Given the description of an element on the screen output the (x, y) to click on. 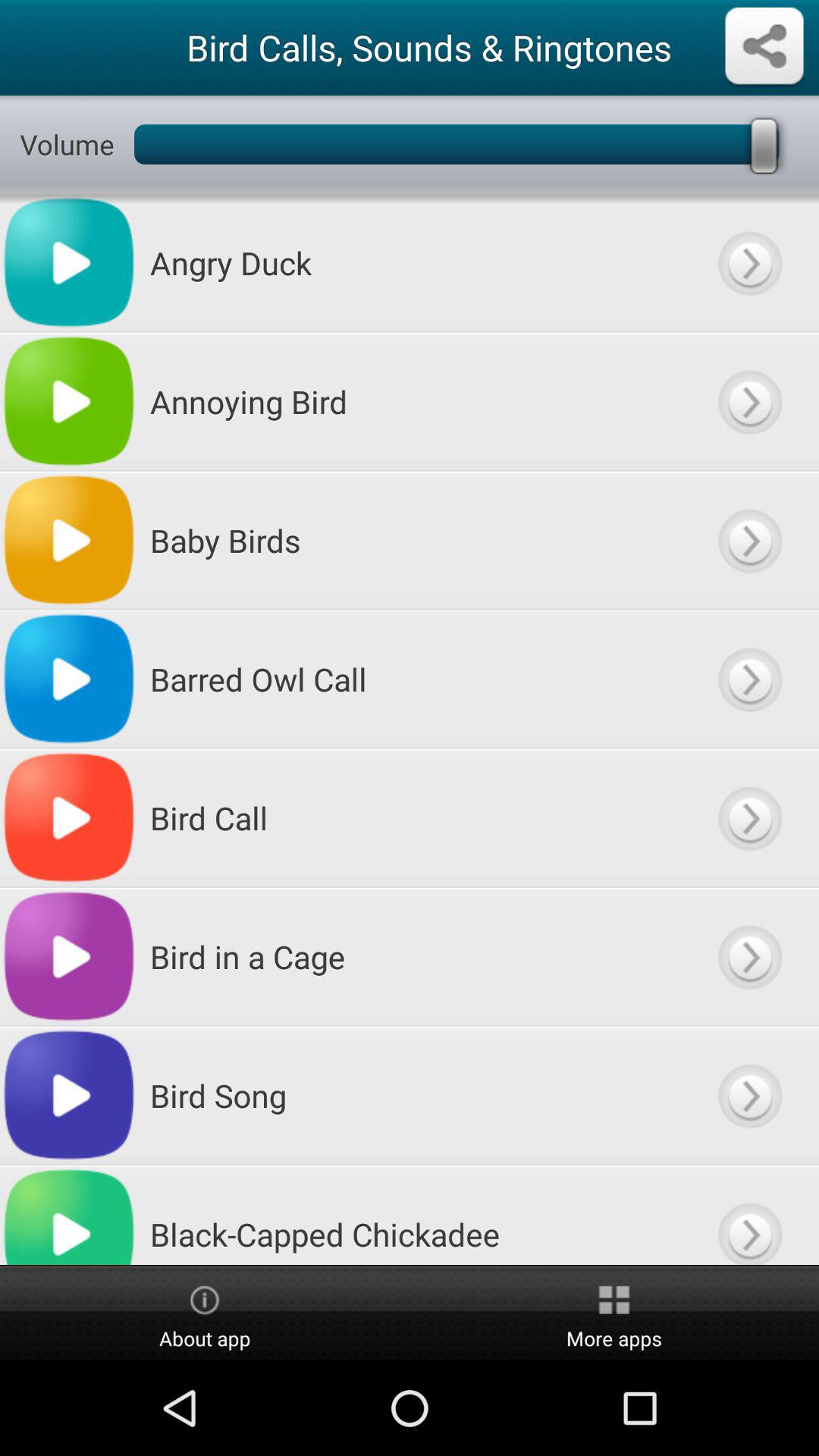
go to next (749, 679)
